Given the description of an element on the screen output the (x, y) to click on. 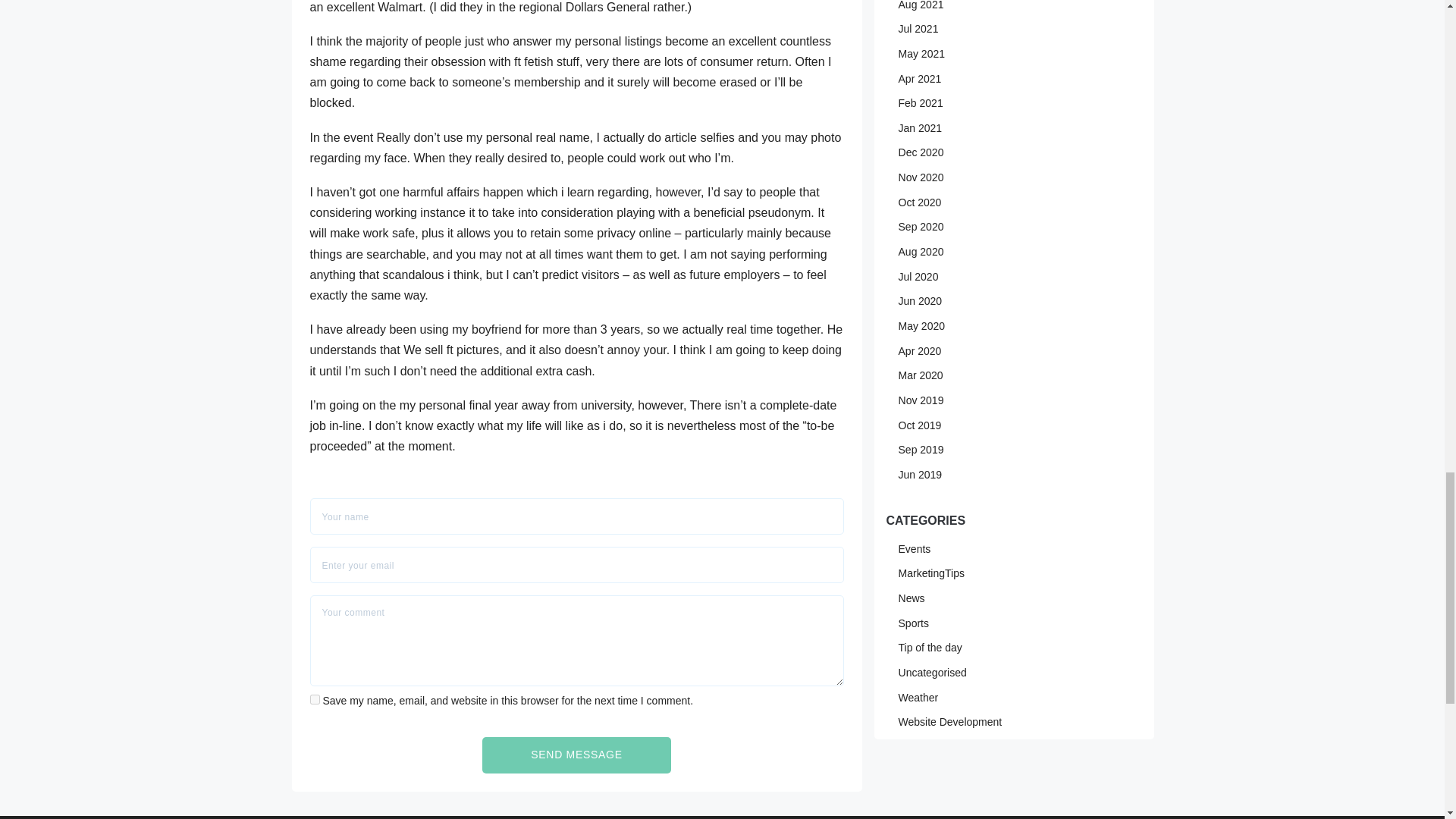
yes (315, 699)
Send message (576, 755)
Send message (576, 755)
